Given the description of an element on the screen output the (x, y) to click on. 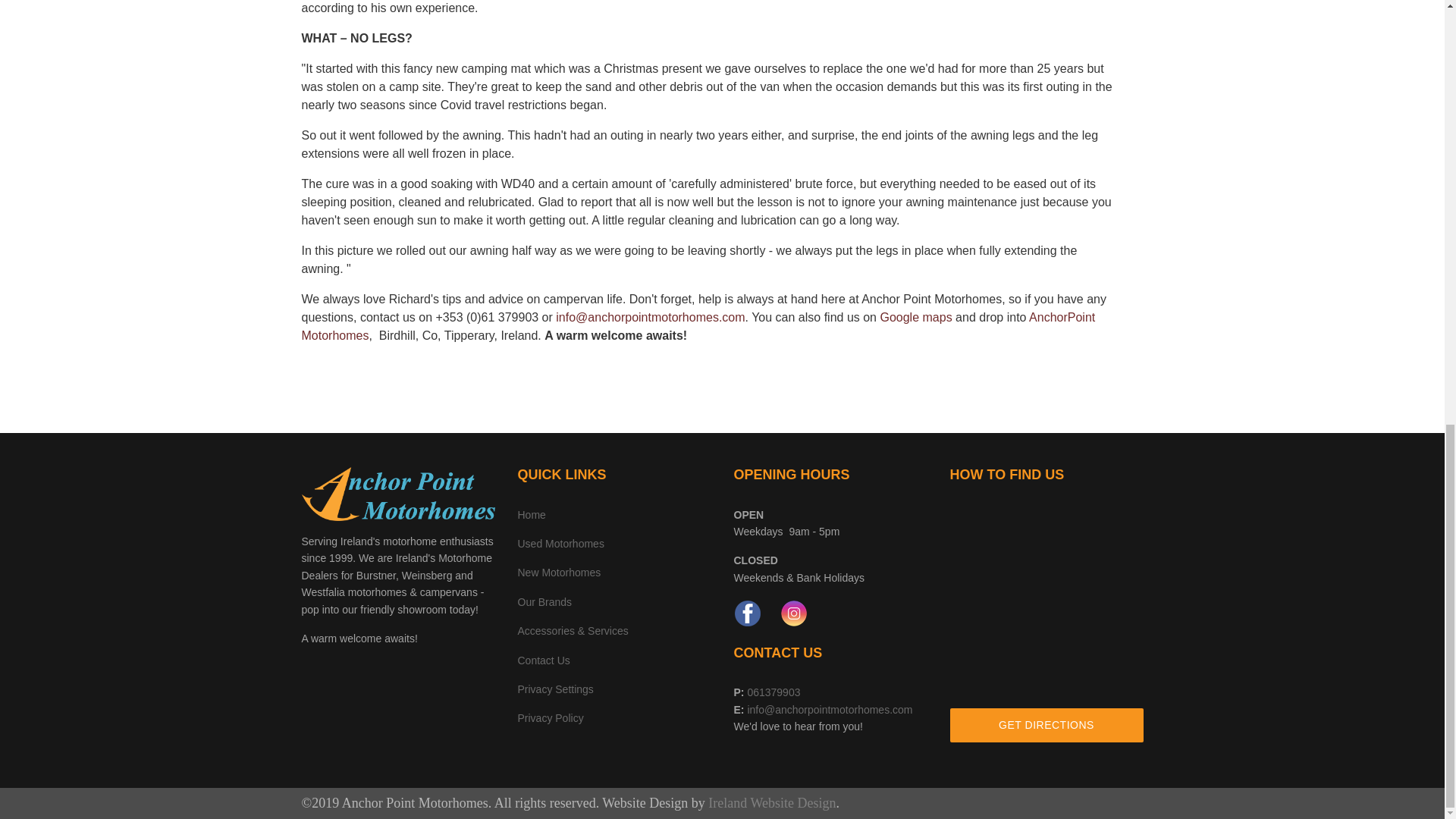
Home (530, 514)
Google maps (915, 317)
Contact Us (542, 660)
Anchor Point Motorhomes Google Maps (915, 317)
GET DIRECTIONS (1045, 725)
Used Motorhomes (560, 543)
061379903 (772, 692)
Our Brands (544, 602)
Privacy Policy (549, 717)
New Motorhomes (557, 572)
